Given the description of an element on the screen output the (x, y) to click on. 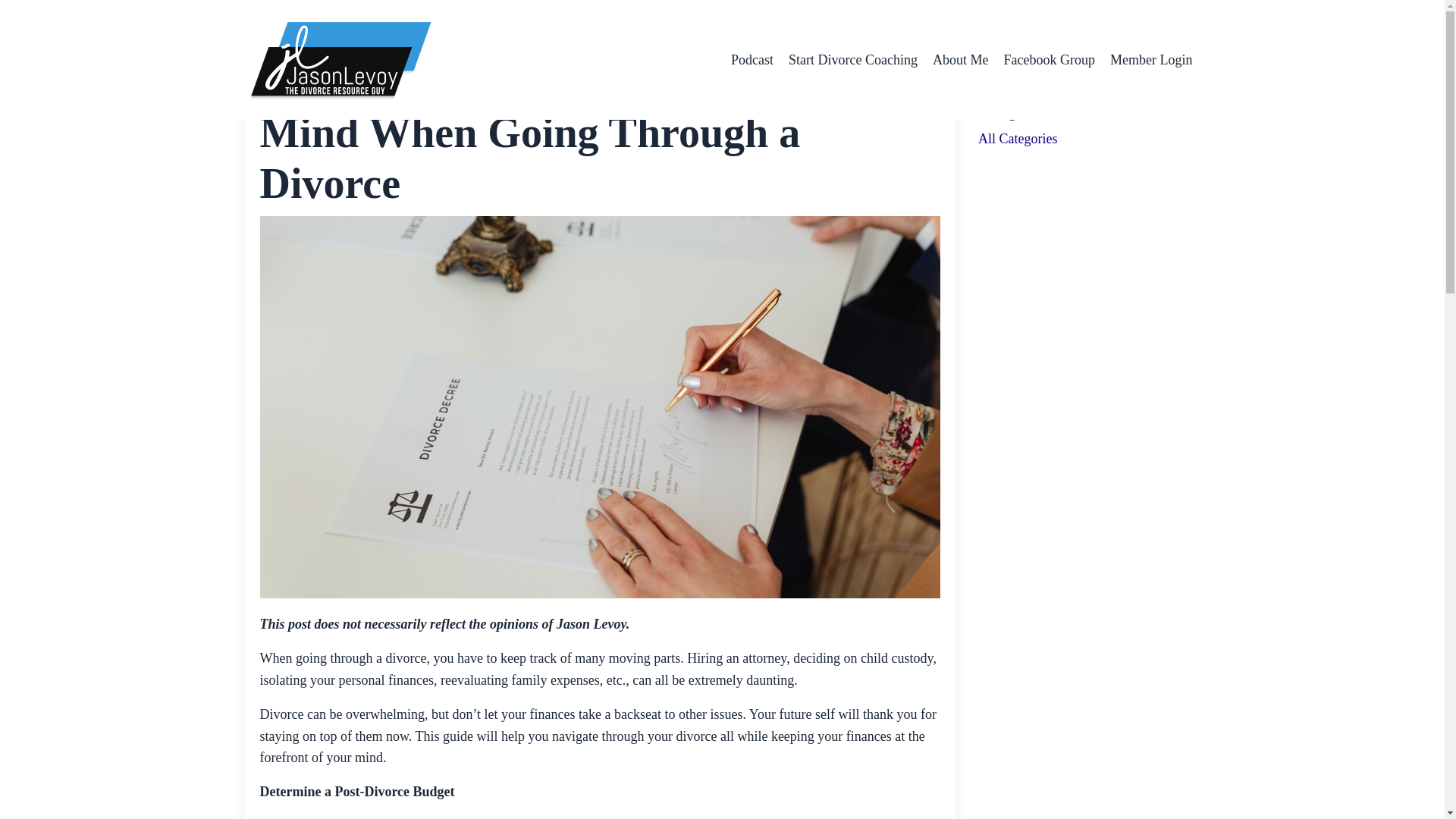
Start Divorce Coaching (853, 60)
About Me (960, 60)
Facebook Group (1049, 60)
Podcast (751, 60)
Member Login (1150, 60)
All Categories (1088, 138)
